Given the description of an element on the screen output the (x, y) to click on. 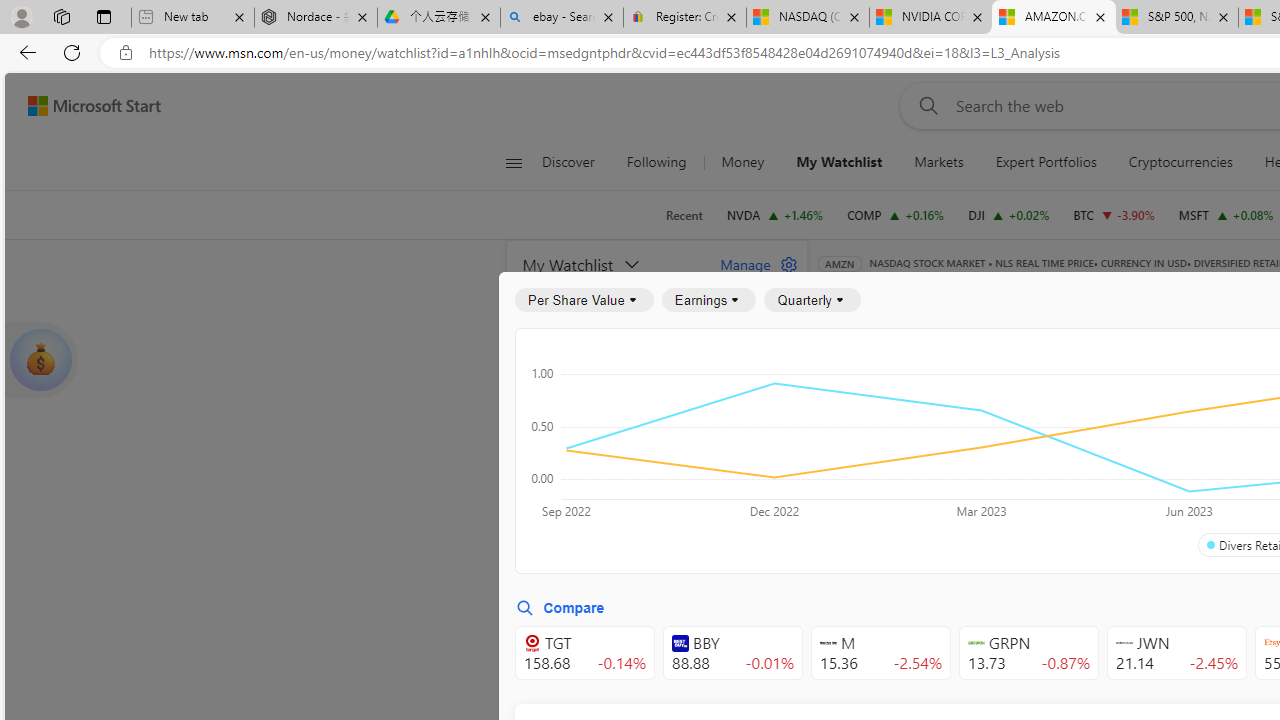
Income Statement (968, 391)
Cash Flow (1166, 391)
All (842, 445)
Profitability (1164, 445)
Expert Portfolios (1045, 162)
remove from your watchlist (786, 498)
Recent (683, 215)
Expert Portfolios (1046, 162)
My Watchlist (839, 162)
NVDA NVIDIA CORPORATION increase 128.30 +1.84 +1.46% (774, 214)
Register: Create a personal eBay account (684, 17)
